Given the description of an element on the screen output the (x, y) to click on. 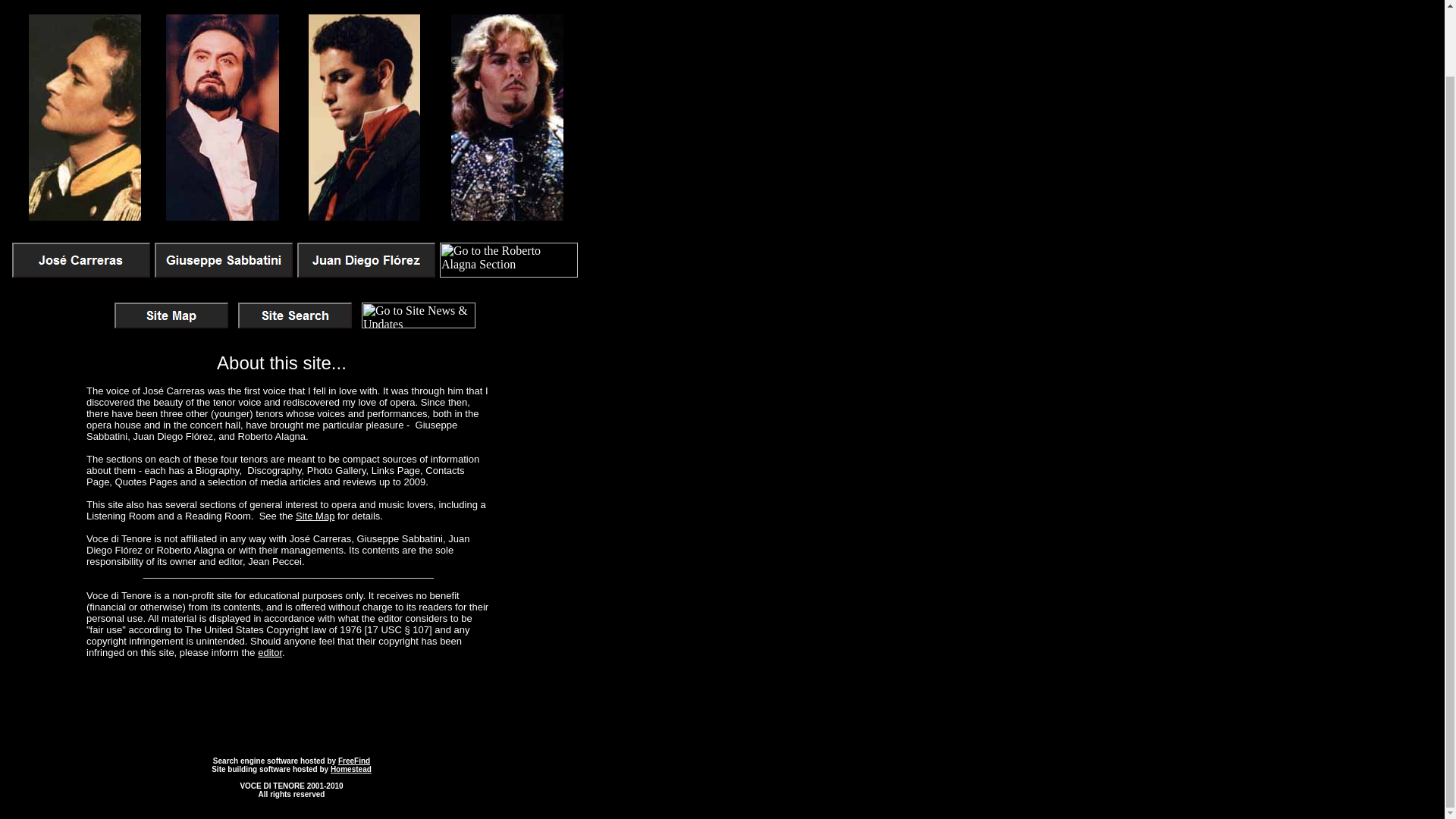
Homestead (350, 767)
FreeFind (353, 758)
editor (269, 651)
Site Map (314, 514)
